Given the description of an element on the screen output the (x, y) to click on. 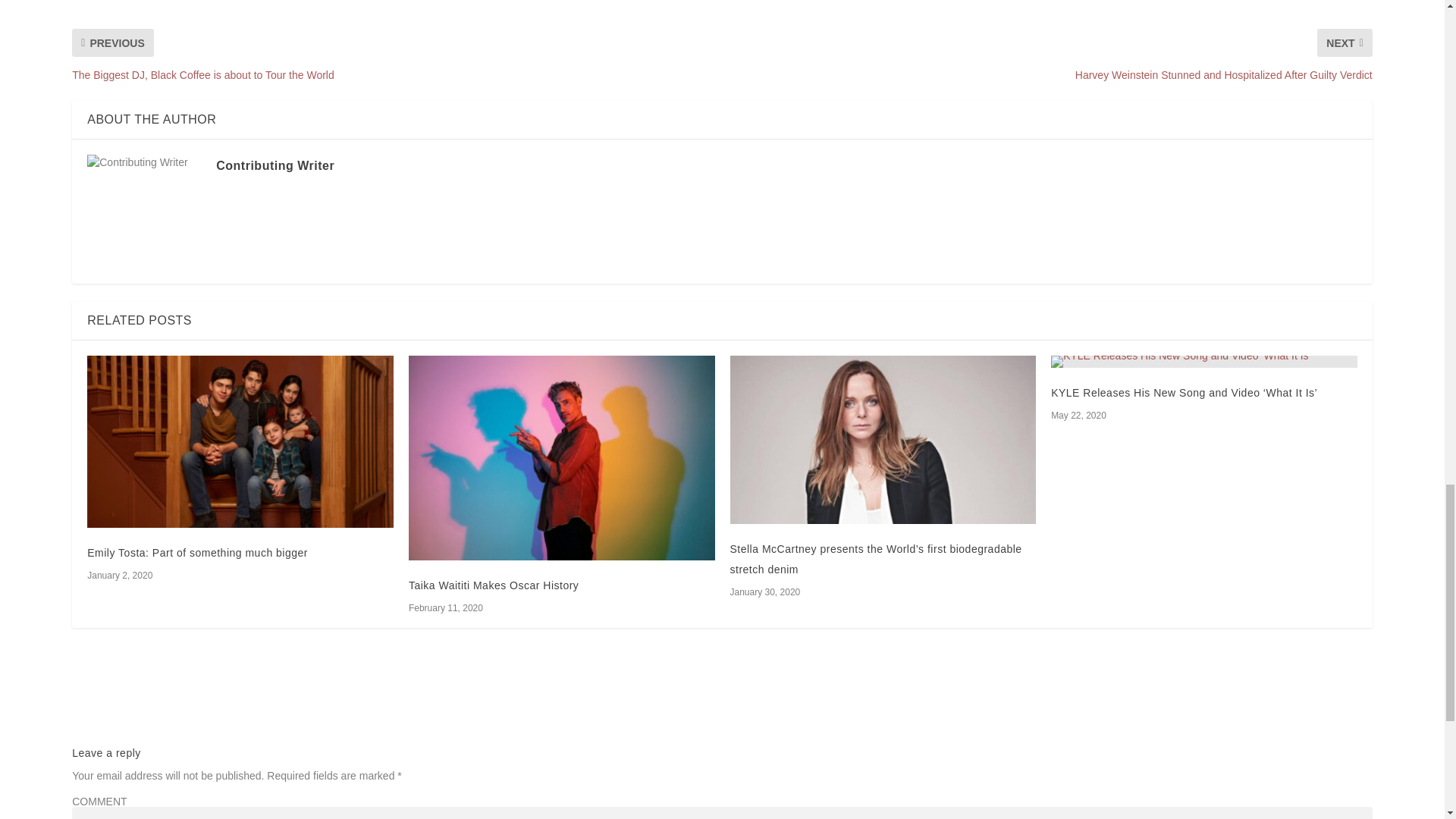
Taika Waititi Makes Oscar History (561, 457)
View all posts by Contributing Writer (274, 164)
Emily Tosta: Part of something much bigger (197, 552)
Taika Waititi Makes Oscar History (493, 585)
Emily Tosta: Part of something much bigger (240, 441)
Contributing Writer (274, 164)
